Given the description of an element on the screen output the (x, y) to click on. 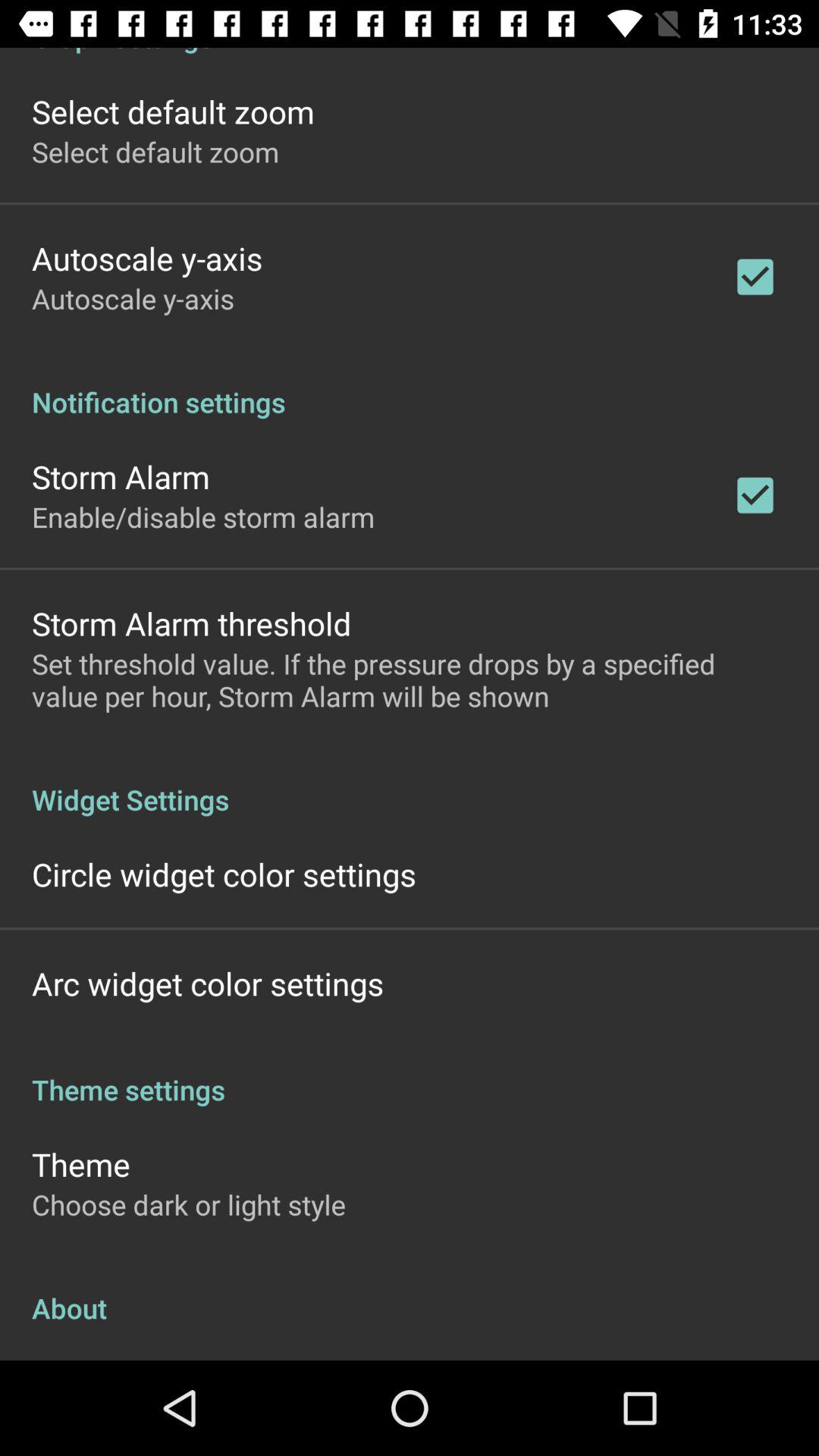
scroll to the choose dark or app (188, 1204)
